Given the description of an element on the screen output the (x, y) to click on. 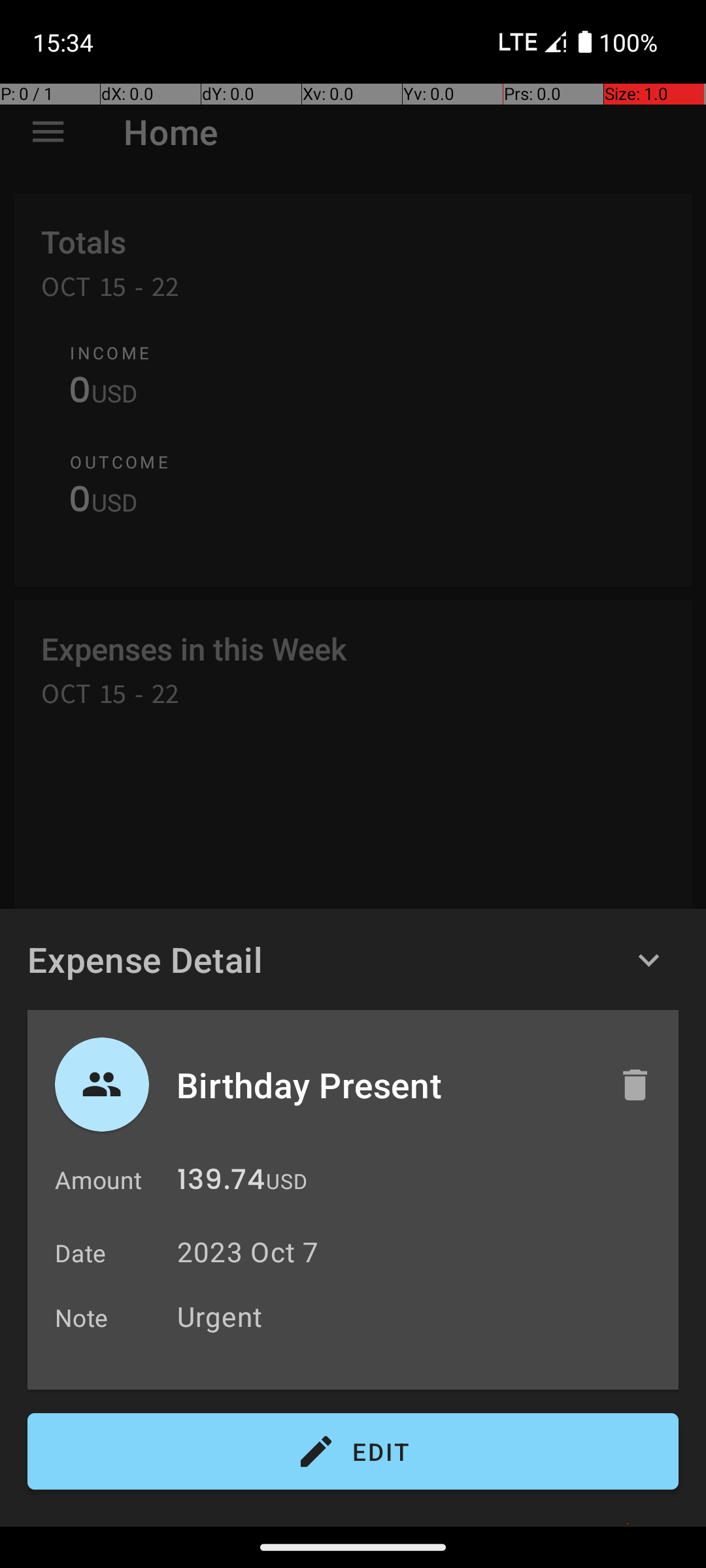
Birthday Present Element type: android.widget.TextView (383, 1084)
139.74 Element type: android.widget.TextView (220, 1182)
Urgent Element type: android.widget.TextView (420, 1315)
